Given the description of an element on the screen output the (x, y) to click on. 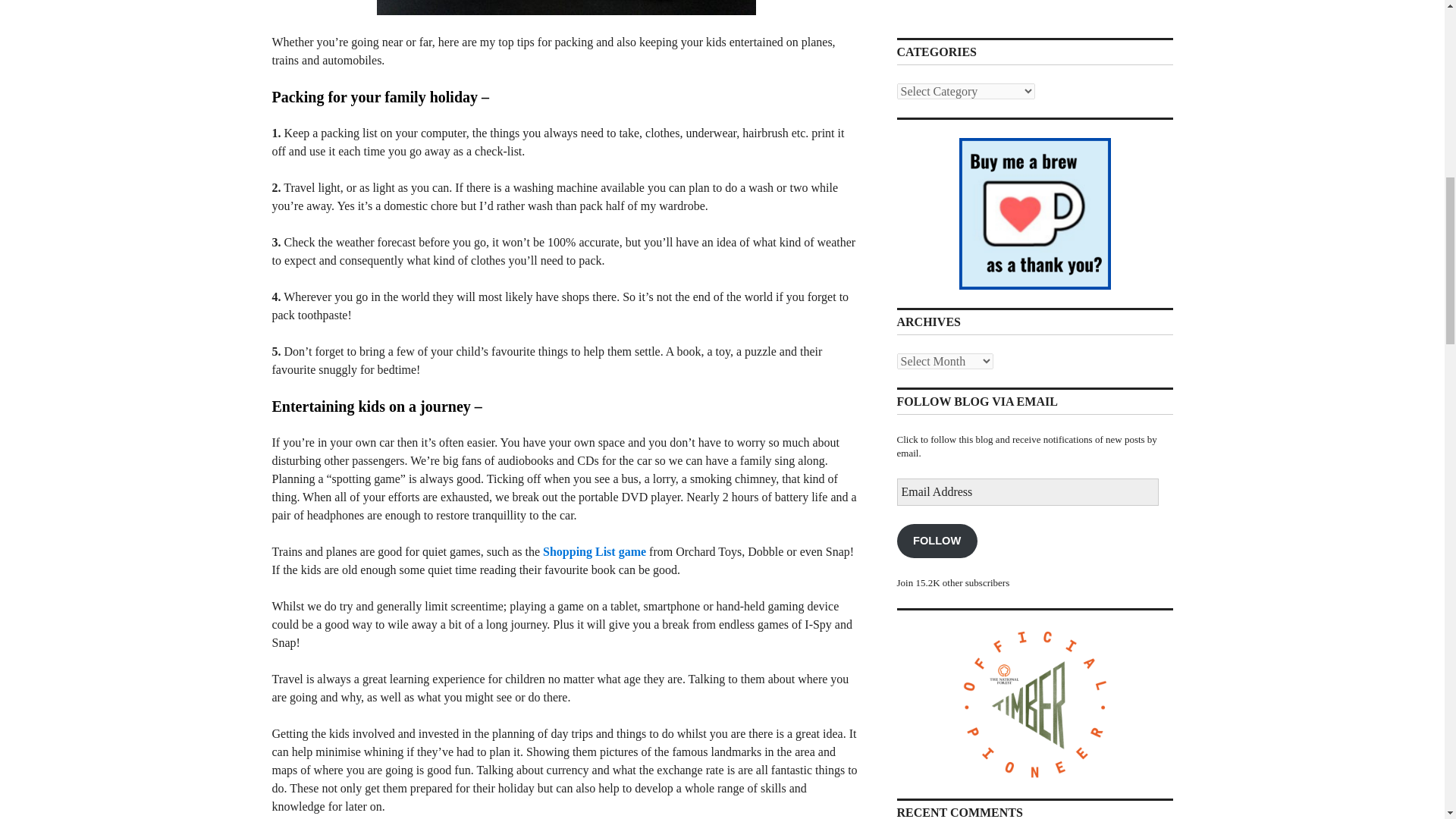
Shopping List game (594, 551)
